Given the description of an element on the screen output the (x, y) to click on. 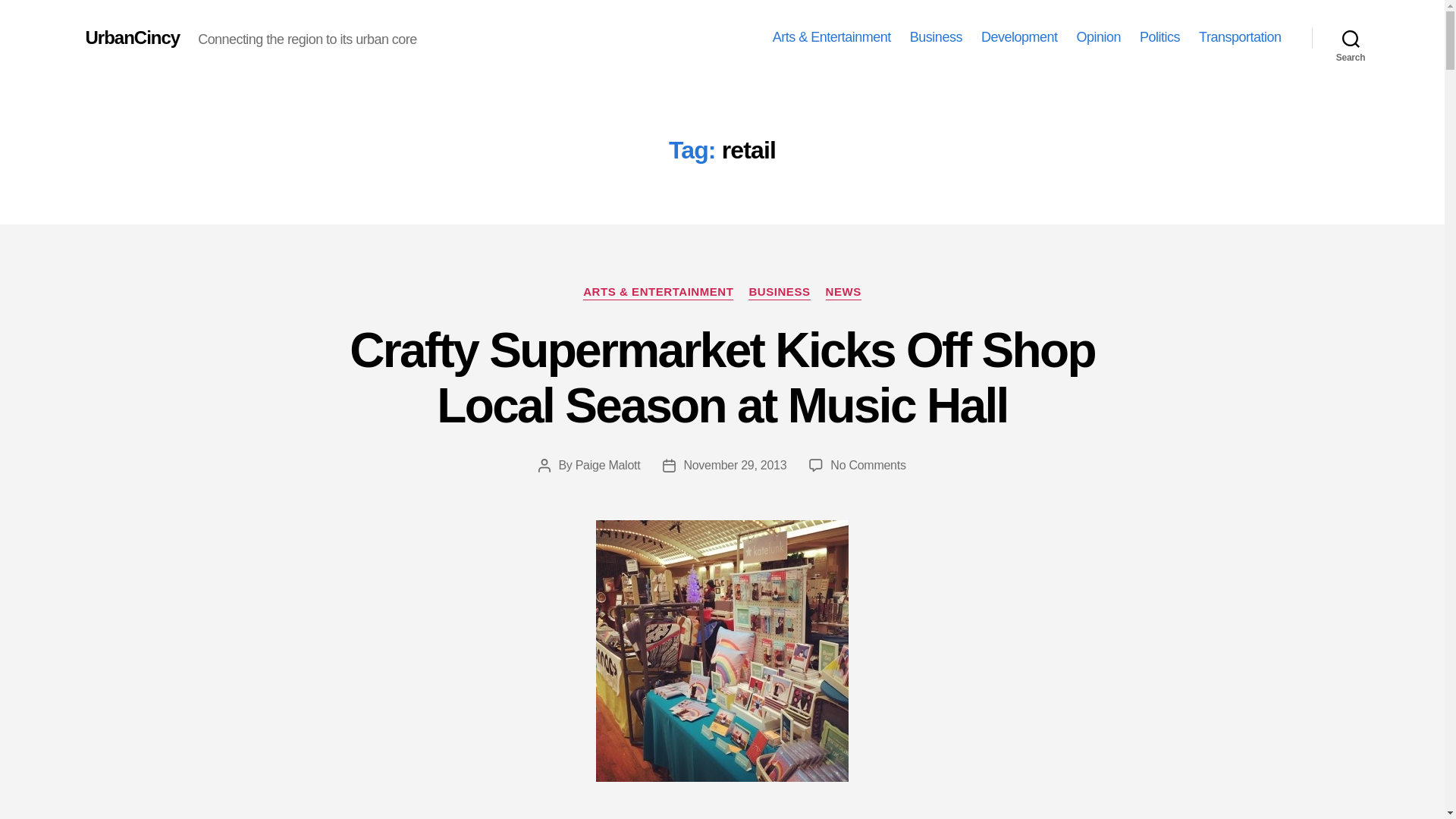
Politics (1159, 37)
NEWS (843, 292)
Search (1350, 37)
Development (1019, 37)
November 29, 2013 (734, 464)
Opinion (1098, 37)
Business (936, 37)
Paige Malott (607, 464)
UrbanCincy (131, 37)
